Given the description of an element on the screen output the (x, y) to click on. 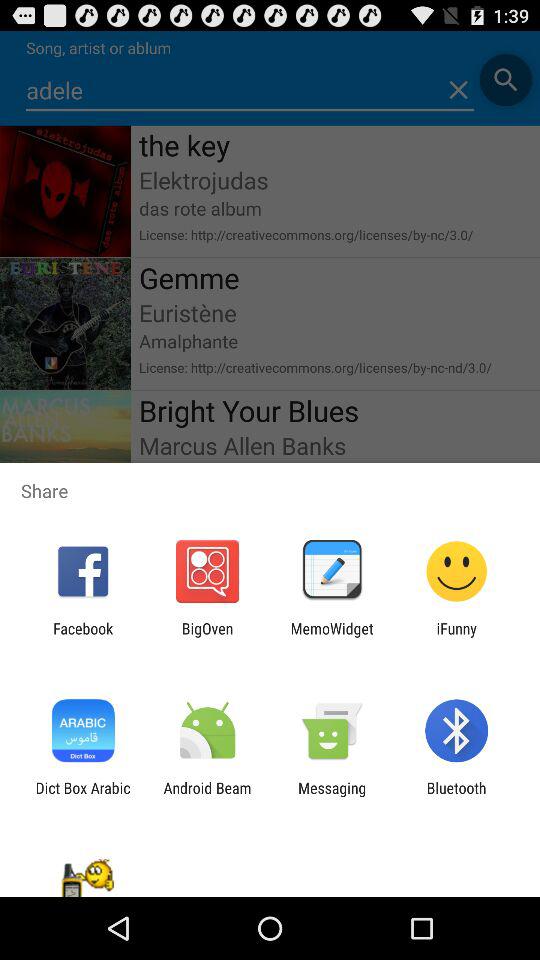
turn on the app to the right of the bigoven icon (331, 637)
